Given the description of an element on the screen output the (x, y) to click on. 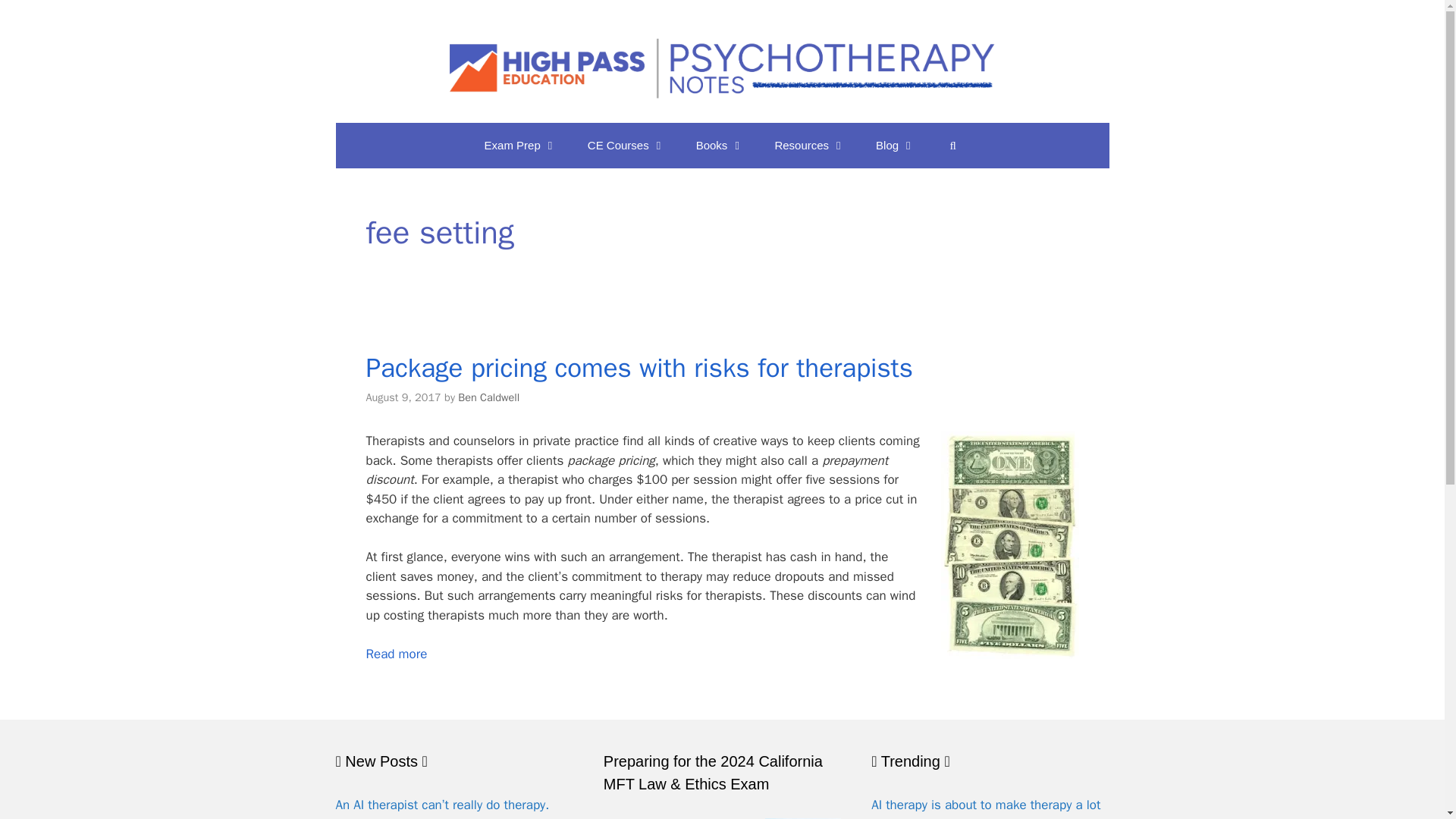
Package pricing comes with risks for therapists (638, 367)
Read more (395, 653)
Exam Prep (520, 145)
Blog (895, 145)
View all posts by Ben Caldwell (488, 397)
Resources (809, 145)
CE Courses (626, 145)
Ben Caldwell (488, 397)
Books (720, 145)
Package pricing comes with risks for therapists (395, 653)
